Given the description of an element on the screen output the (x, y) to click on. 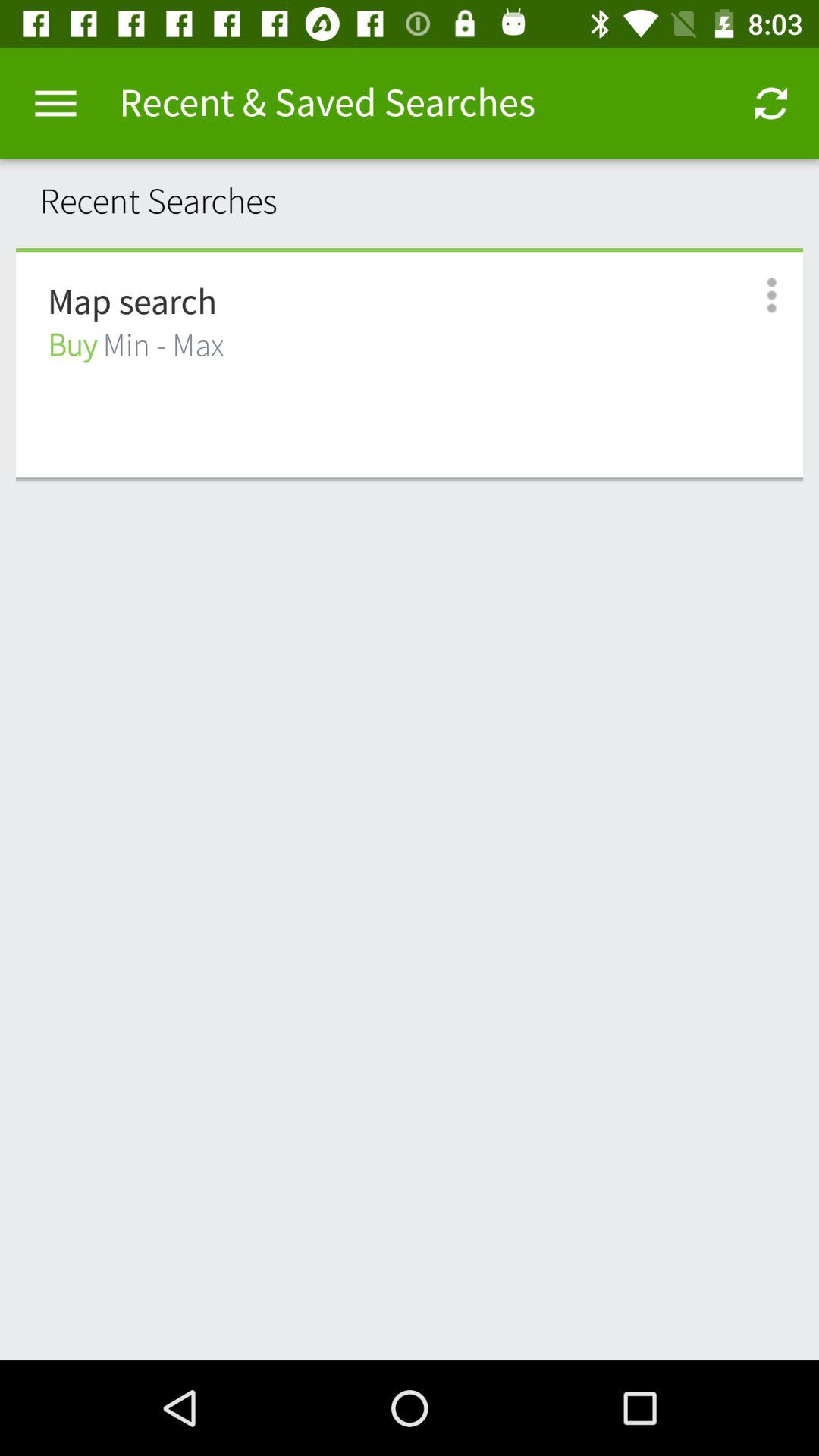
choose item above map search item (409, 249)
